Given the description of an element on the screen output the (x, y) to click on. 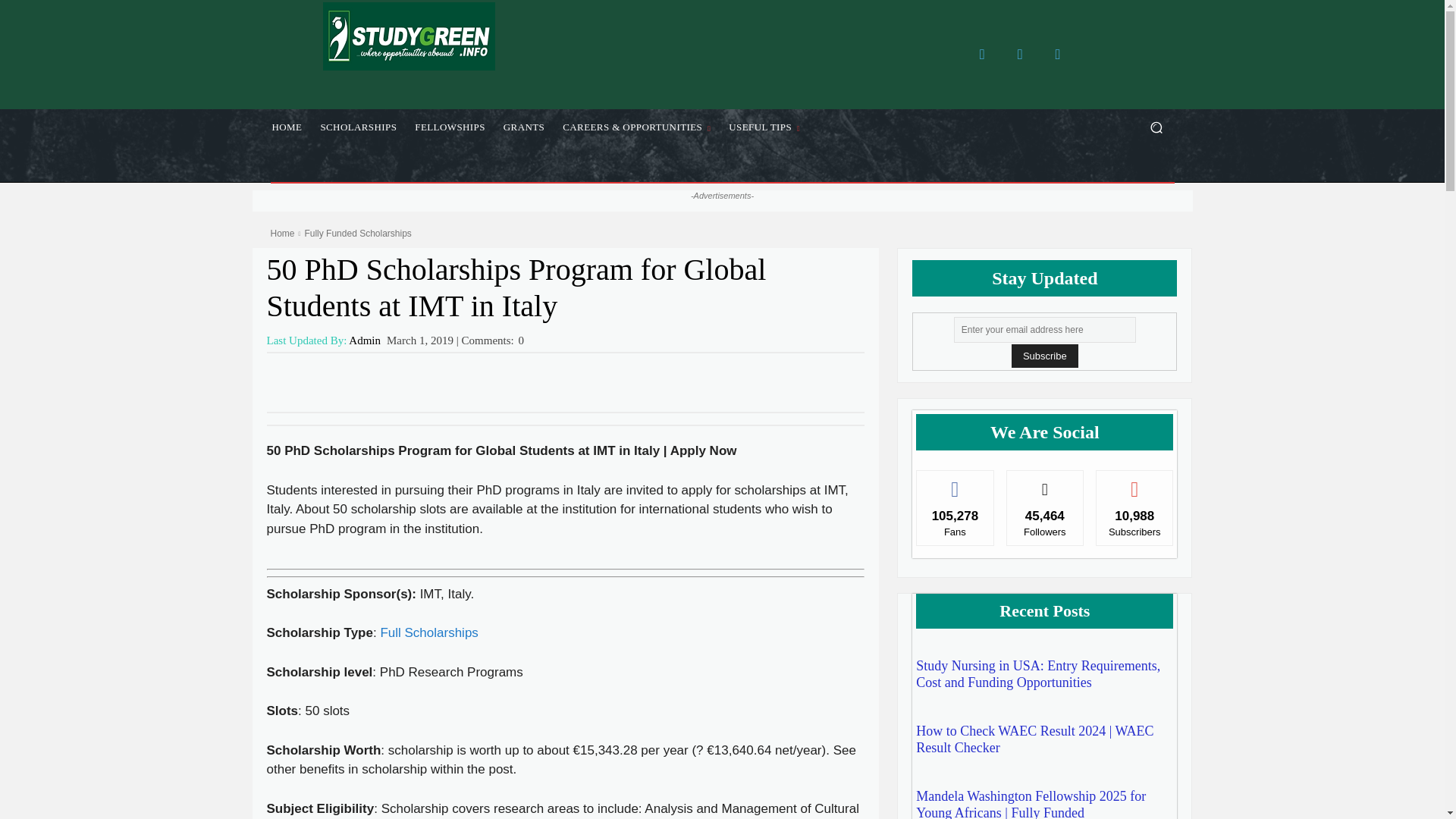
Home (281, 233)
SCHOLARSHIPS (358, 126)
Fully Funded Scholarships (357, 233)
View all posts in Fully Funded Scholarships (357, 233)
Admin (364, 340)
Twitter (1019, 54)
Subscribe (1044, 355)
FELLOWSHIPS (450, 126)
GRANTS (524, 126)
Where opportunities abound... (408, 36)
